Given the description of an element on the screen output the (x, y) to click on. 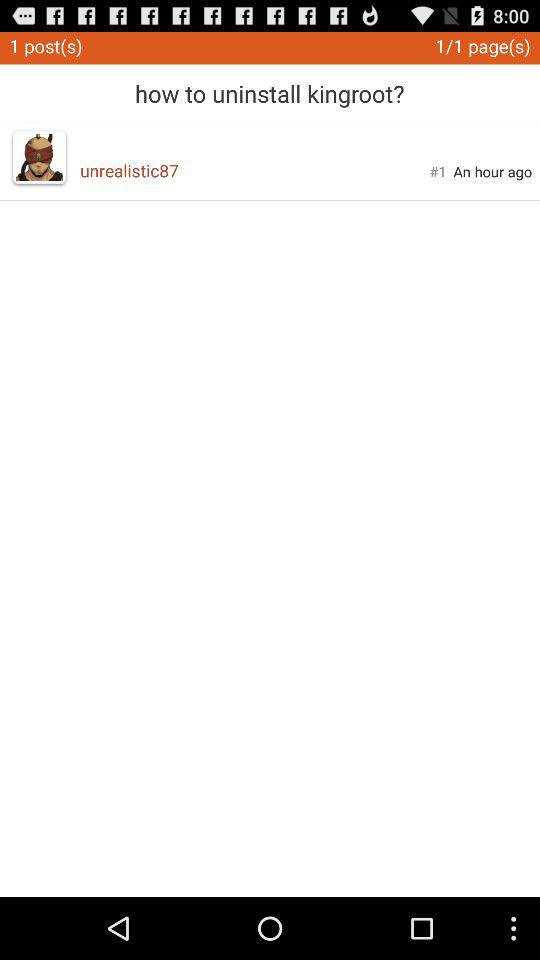
turn on the item next to #1 (492, 171)
